Given the description of an element on the screen output the (x, y) to click on. 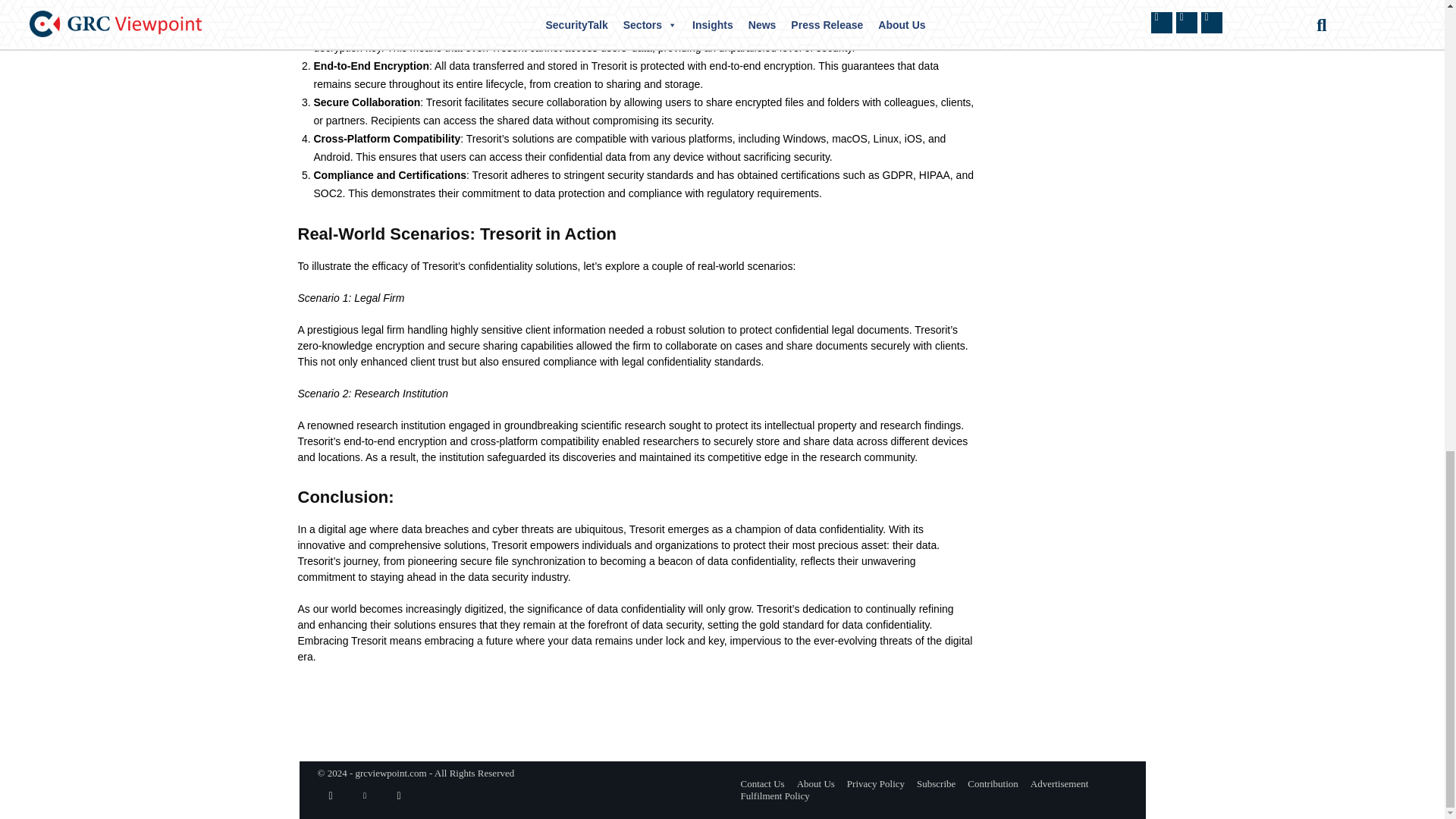
Linkedin (365, 795)
Twitter (398, 795)
Facebook (330, 795)
